Given the description of an element on the screen output the (x, y) to click on. 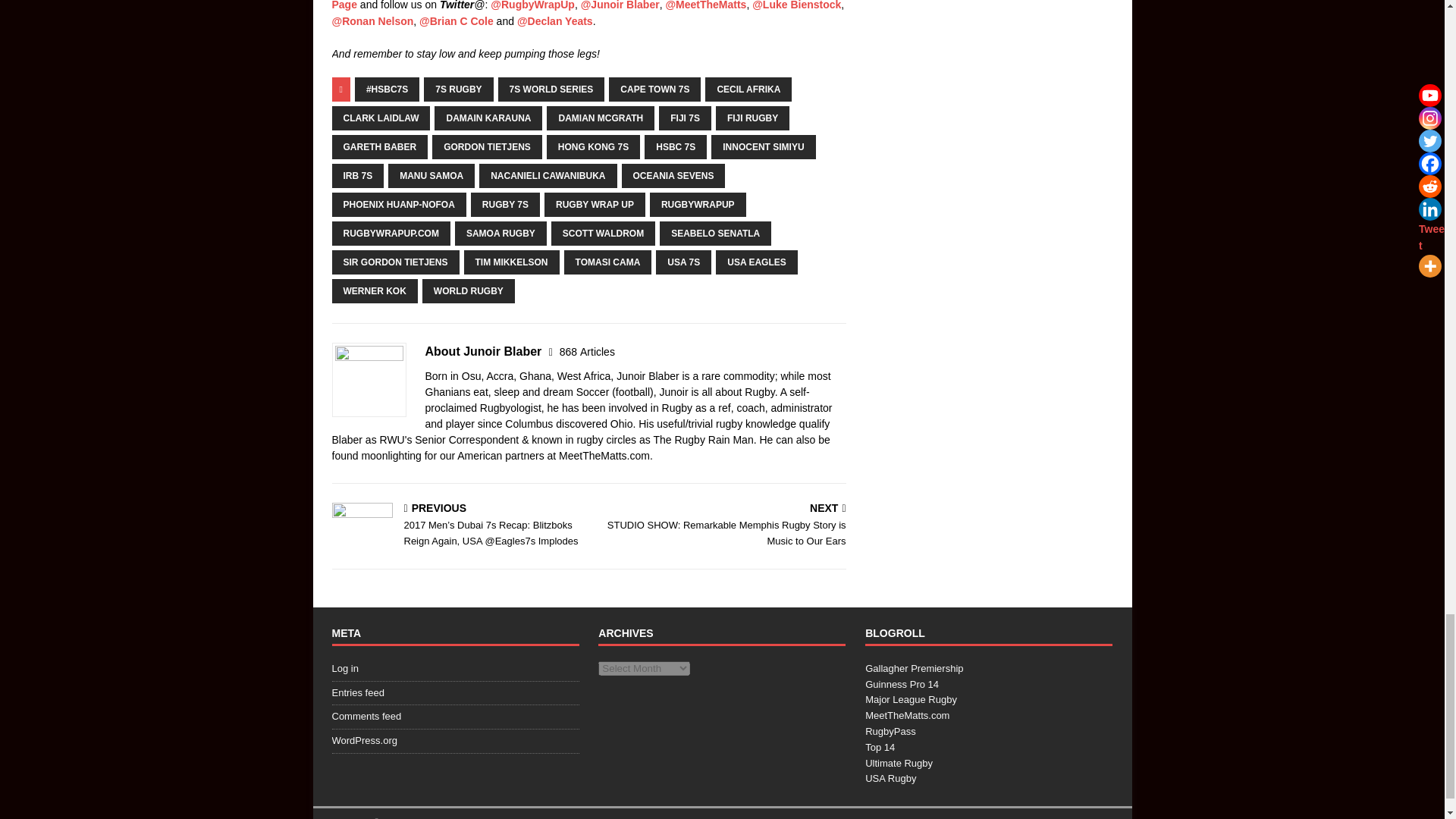
More articles written by Junoir Blaber' (586, 351)
